Given the description of an element on the screen output the (x, y) to click on. 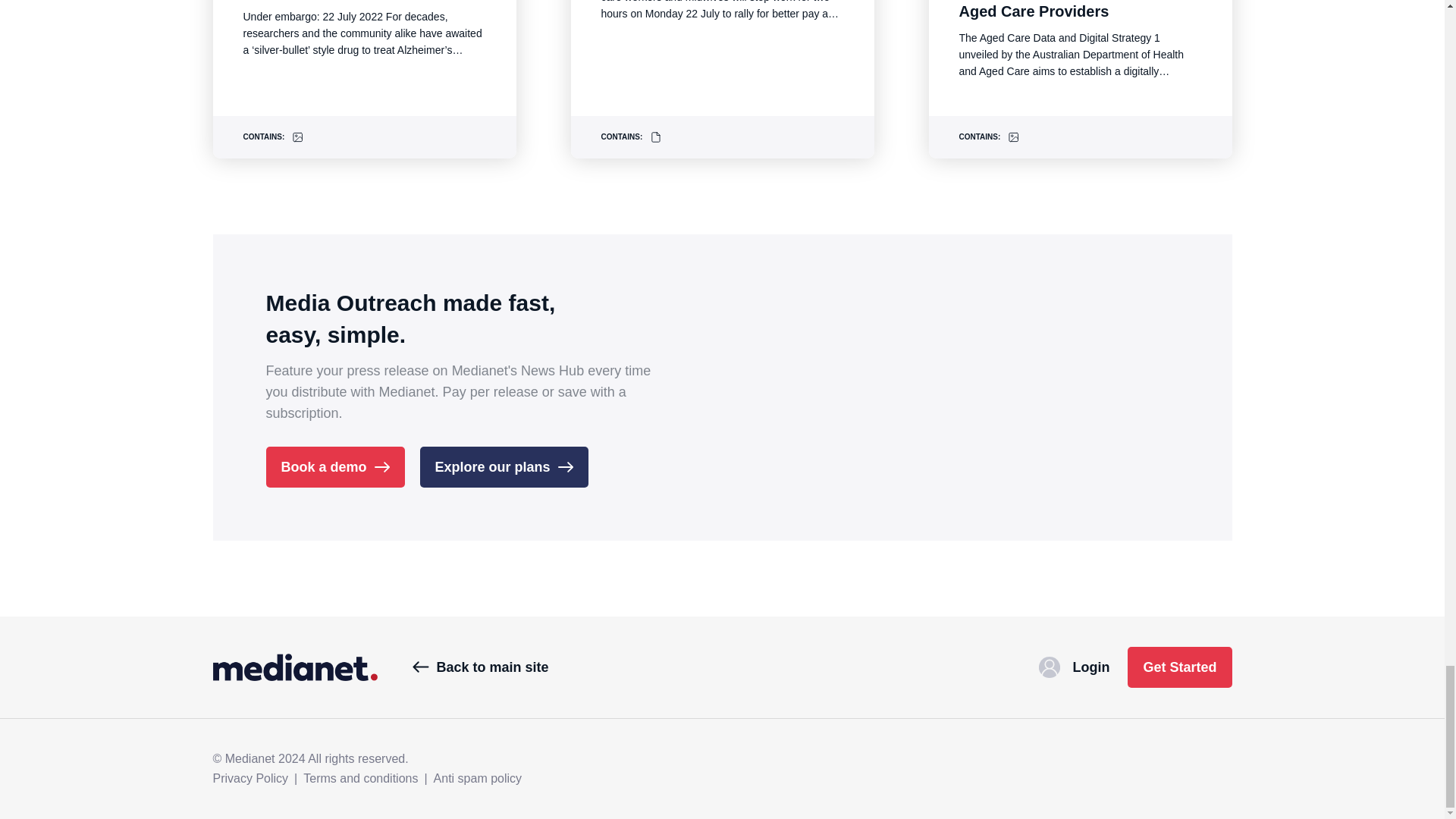
Book a demo (334, 466)
Explore our plans (504, 466)
Images (1013, 137)
News Hub (294, 667)
Images (298, 137)
Attachments (655, 137)
